Given the description of an element on the screen output the (x, y) to click on. 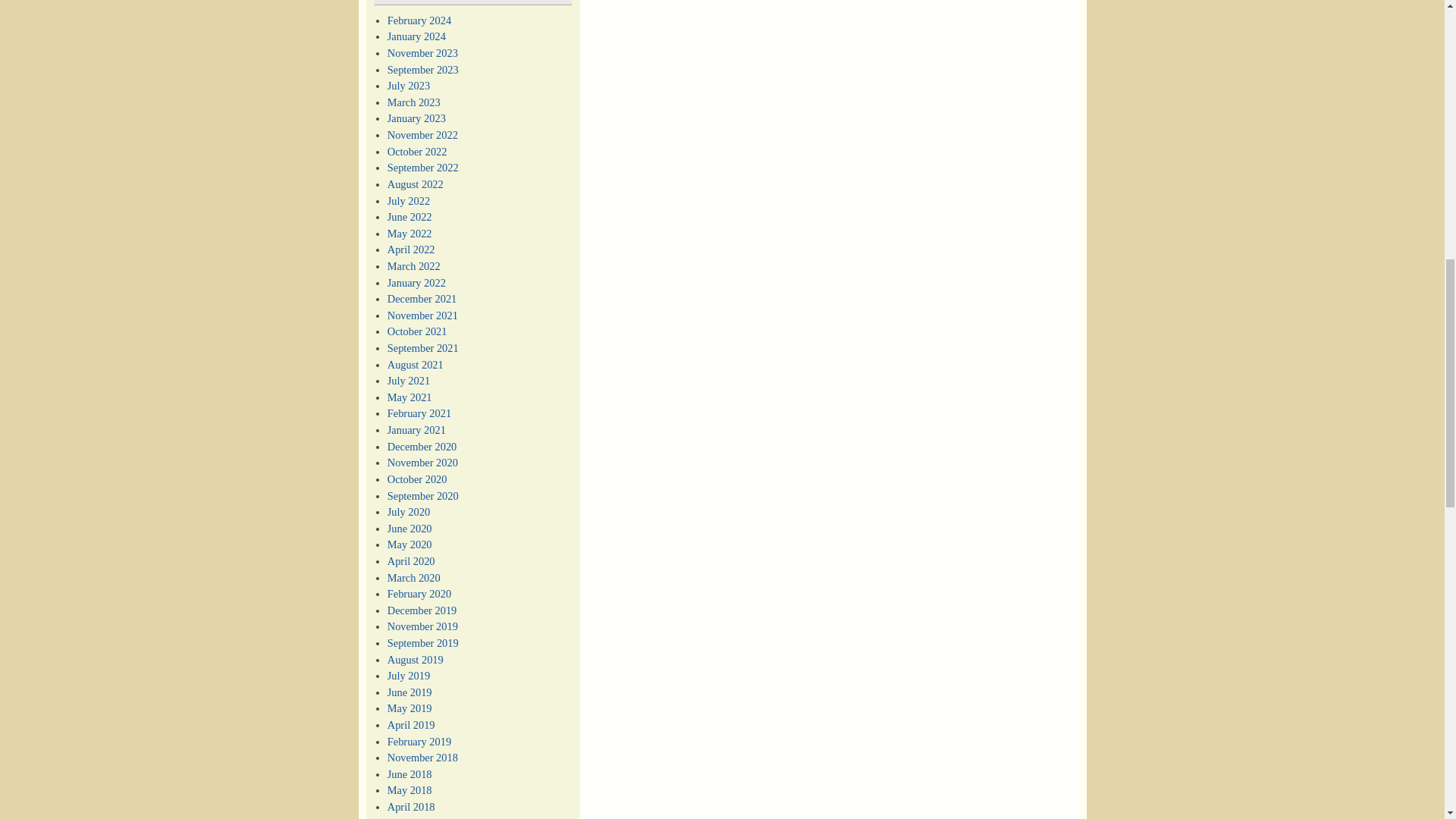
July 2023 (408, 85)
September 2022 (422, 167)
January 2023 (416, 118)
November 2023 (422, 52)
June 2022 (409, 216)
March 2023 (414, 102)
November 2022 (422, 134)
July 2022 (408, 200)
May 2022 (409, 233)
October 2022 (416, 151)
